Given the description of an element on the screen output the (x, y) to click on. 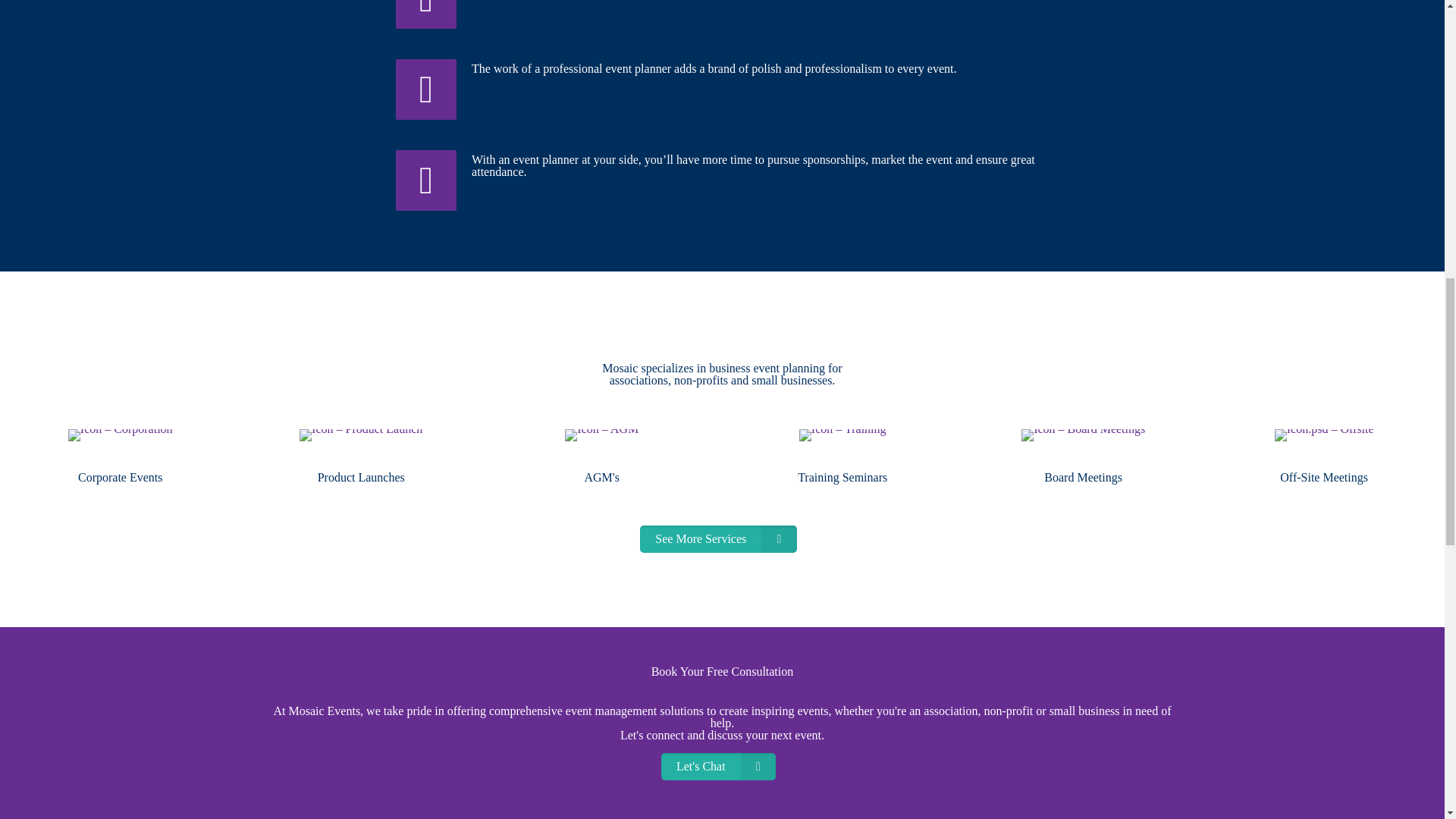
Board Meetings (1082, 477)
See More Services (718, 538)
Corporate Events (120, 477)
AGM's (600, 477)
Training Seminars (841, 477)
Product Launches (360, 477)
Off-Site Meetings (1323, 477)
Let's Chat (718, 766)
